Given the description of an element on the screen output the (x, y) to click on. 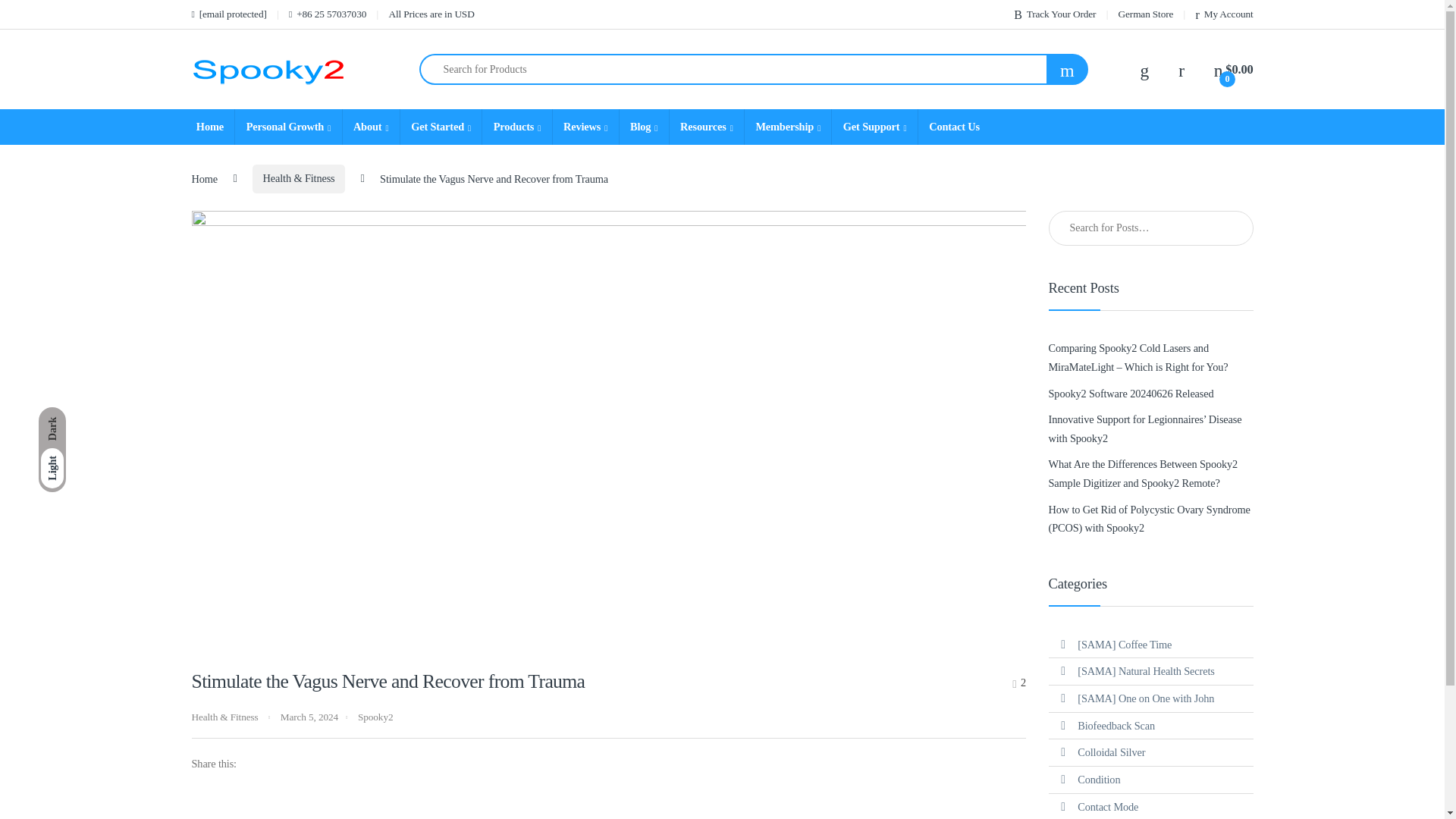
German Store (1145, 14)
About (370, 126)
All Prices are in USD (431, 14)
Track Your Order (1054, 14)
All Prices are in USD (431, 14)
Track Your Order (1054, 14)
My Account (1223, 14)
My Account (1223, 14)
Home (209, 126)
German Store (1145, 14)
Personal Growth (287, 126)
